Given the description of an element on the screen output the (x, y) to click on. 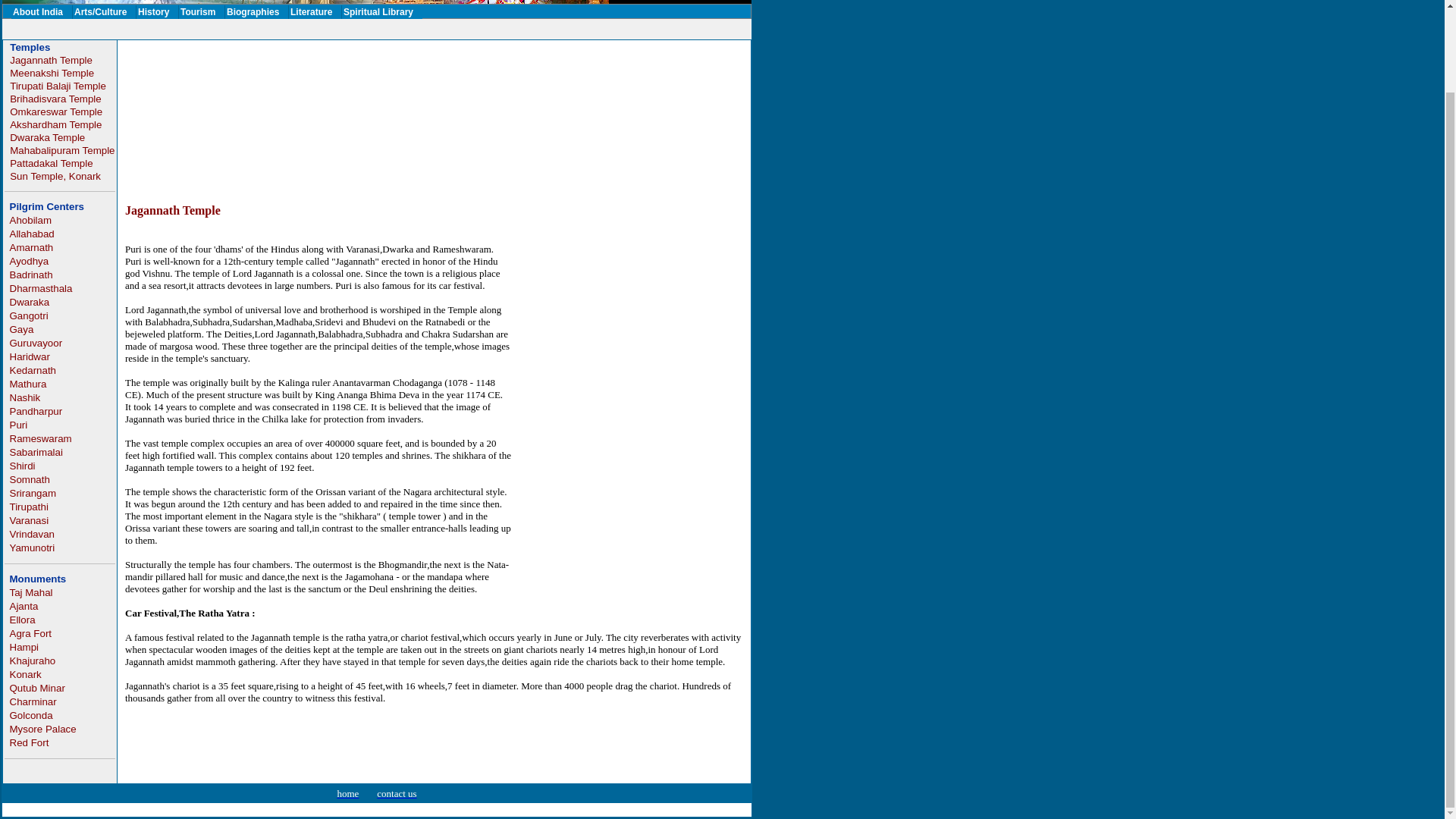
Advertisement (627, 502)
Advertisement (403, 83)
Advertisement (403, 151)
Advertisement (376, 29)
